Given the description of an element on the screen output the (x, y) to click on. 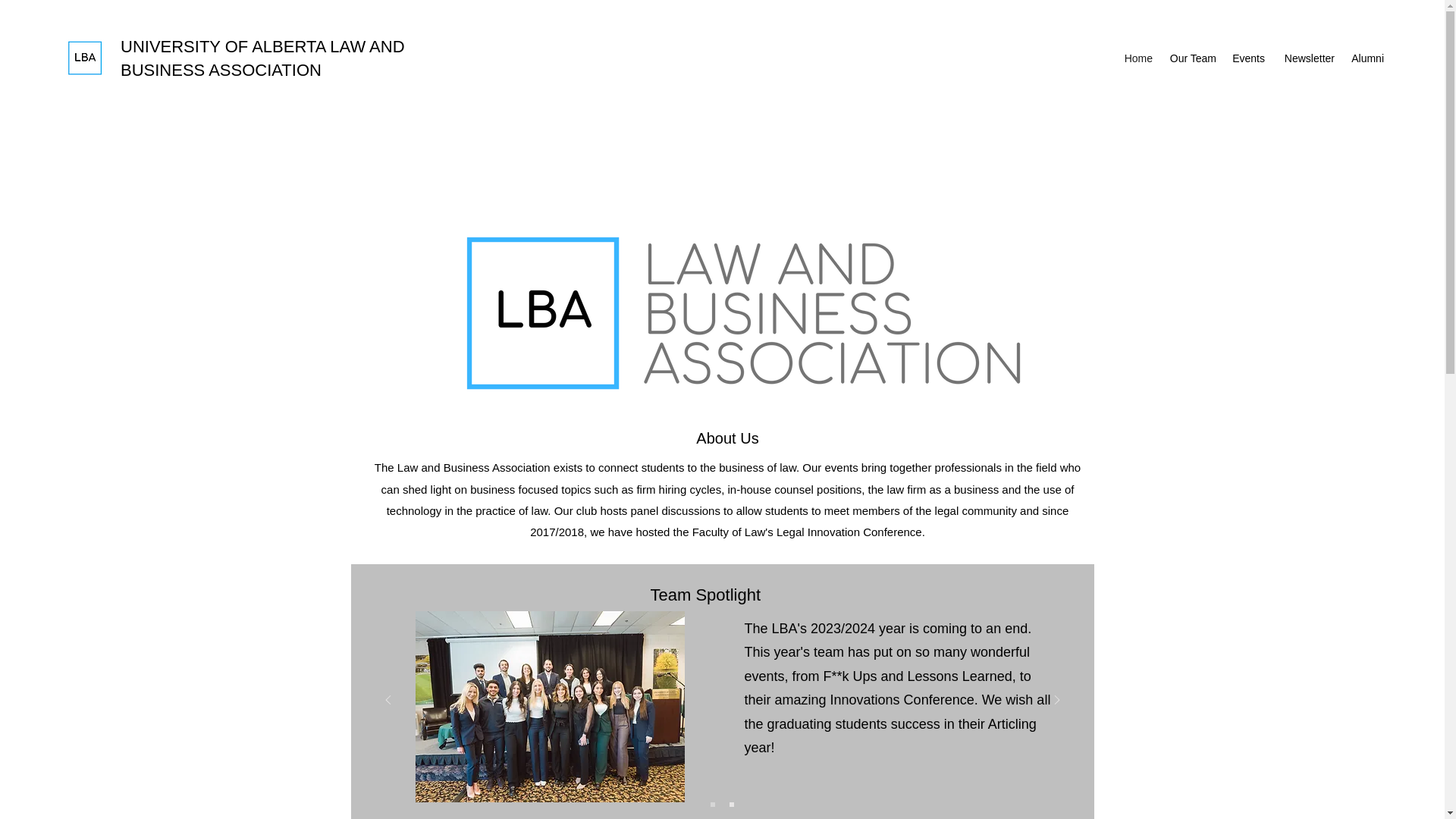
Our Team (1192, 57)
Events (1248, 57)
Home (1137, 57)
Alumni (1366, 57)
Newsletter (1307, 57)
